Given the description of an element on the screen output the (x, y) to click on. 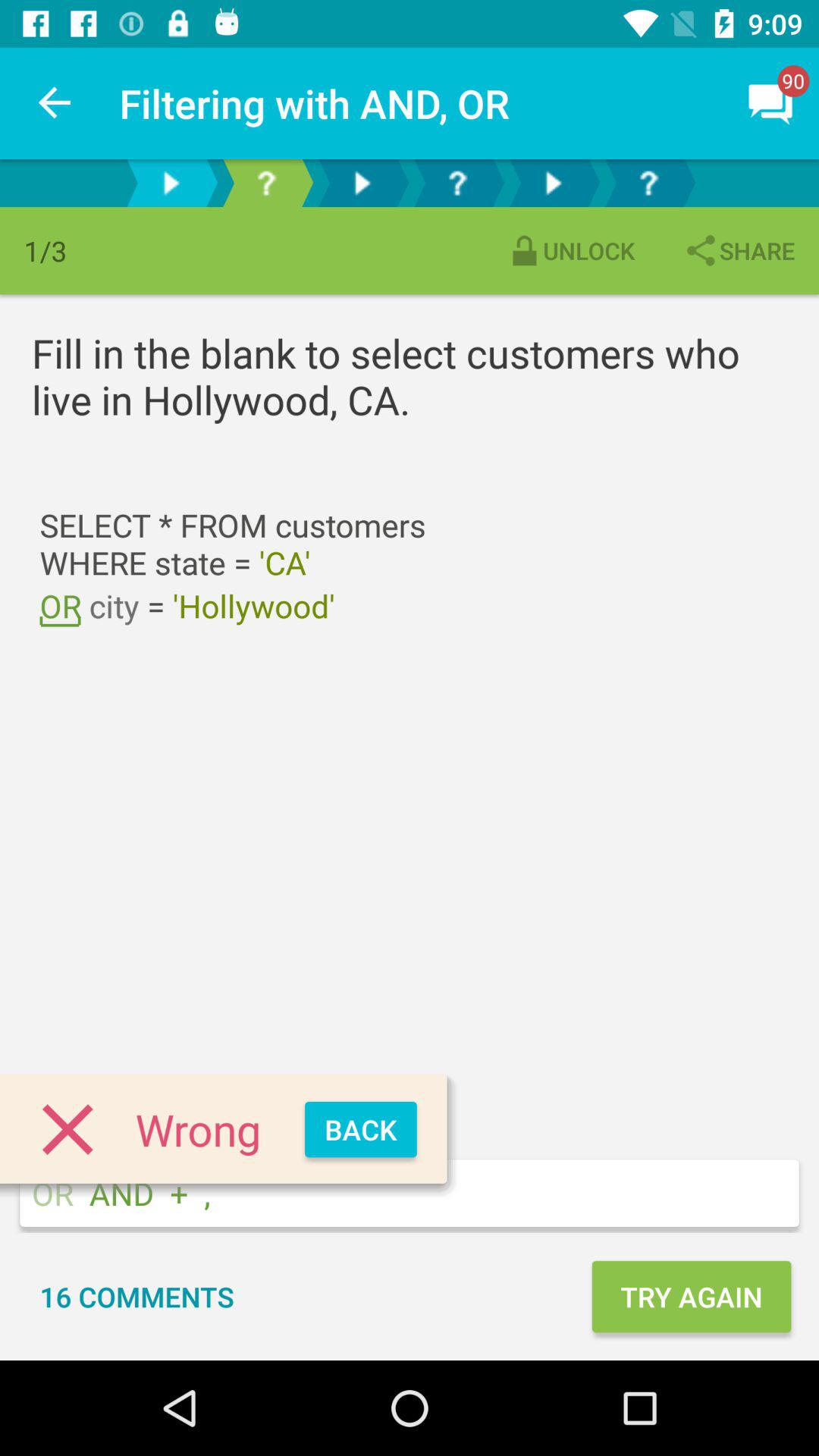
open icon below  city = 'hollywood' item (360, 1129)
